Given the description of an element on the screen output the (x, y) to click on. 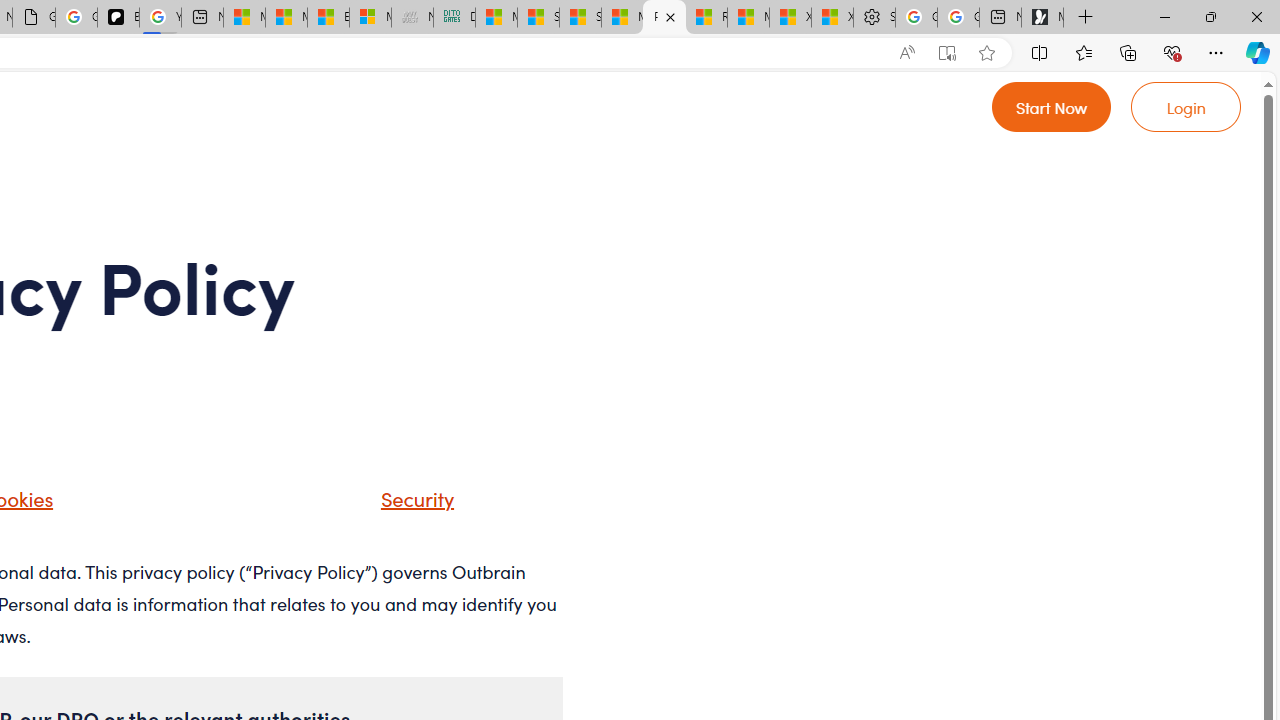
R******* | Trusted Community Engagement and Contributions (706, 17)
Google Analytics Opt-out Browser Add-on Download Page (33, 17)
